Given the description of an element on the screen output the (x, y) to click on. 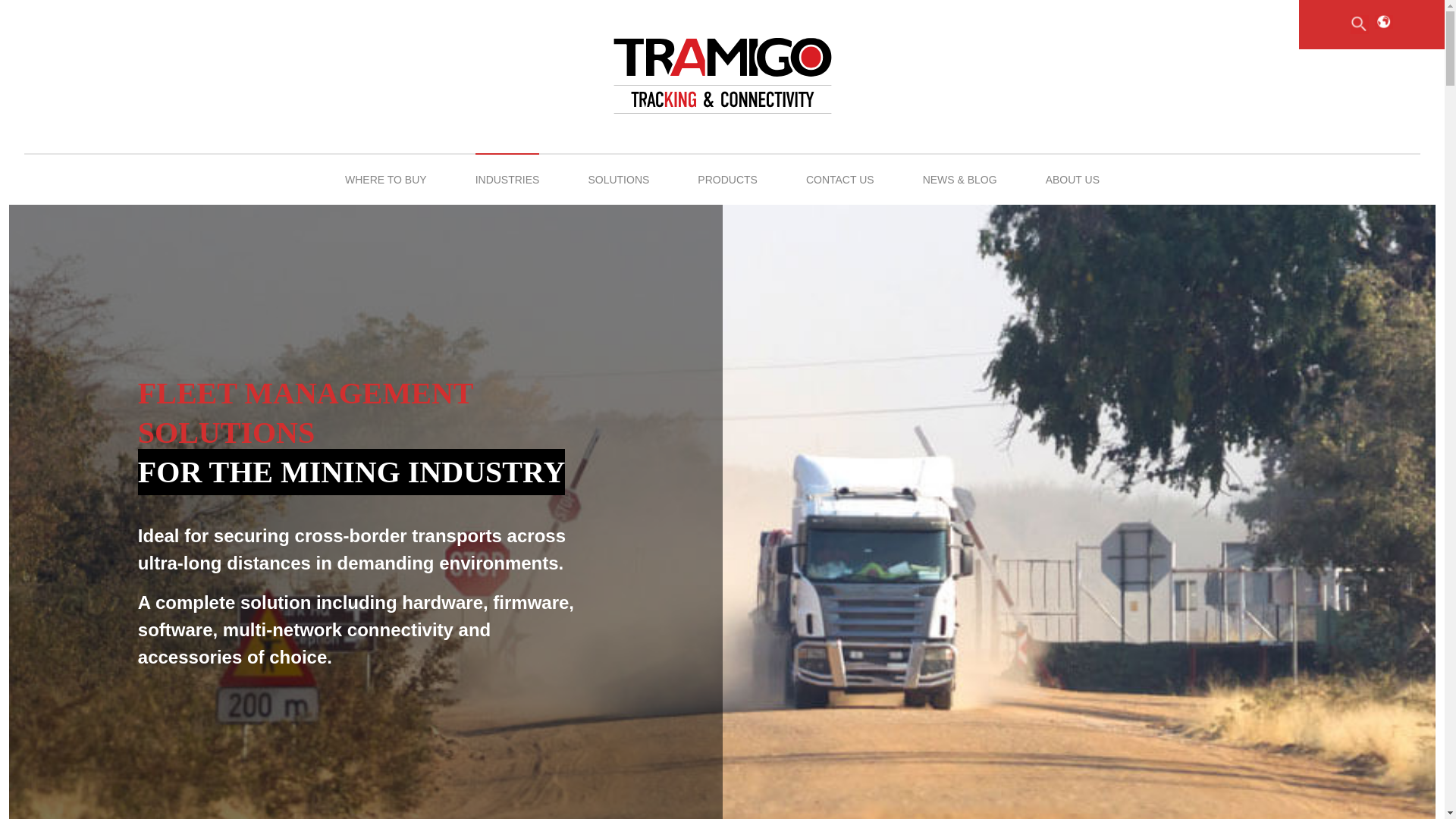
WHERE TO BUY (385, 178)
CONTACT US (840, 178)
Tramigo Kenya (721, 77)
ABOUT US (1072, 178)
INDUSTRIES (508, 178)
SOLUTIONS (618, 178)
PRODUCTS (727, 178)
